Given the description of an element on the screen output the (x, y) to click on. 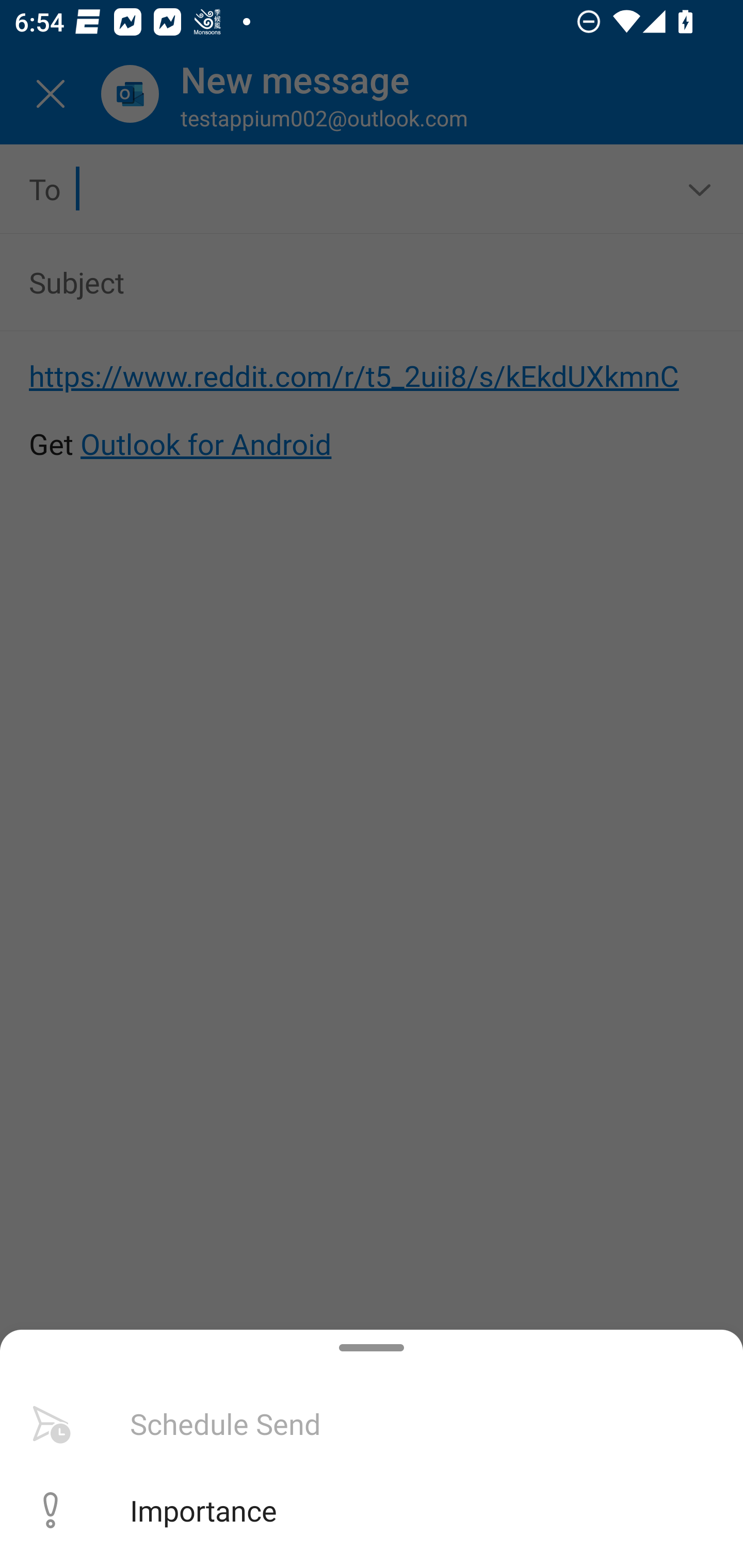
Schedule Send (371, 1423)
Importance (371, 1510)
